Given the description of an element on the screen output the (x, y) to click on. 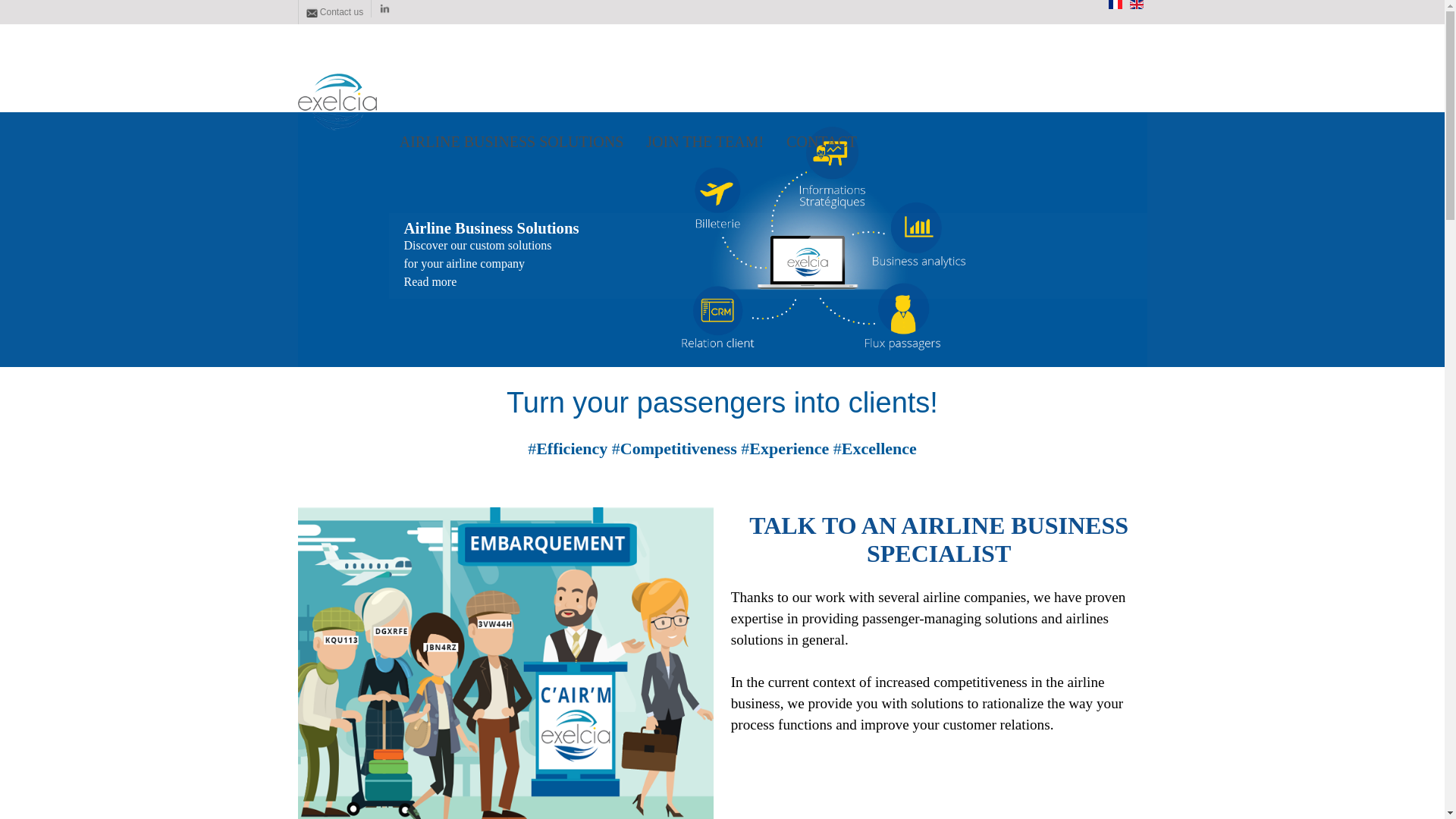
Read more (430, 281)
AIRLINE BUSINESS SOLUTIONS (511, 141)
CONTACT (820, 141)
CONTACT (820, 141)
AIRLINE BUSINESS SOLUTIONS (511, 141)
JOIN THE TEAM! (704, 141)
Contact us (334, 11)
Contact us (334, 11)
JOIN THE TEAM! (704, 141)
